Given the description of an element on the screen output the (x, y) to click on. 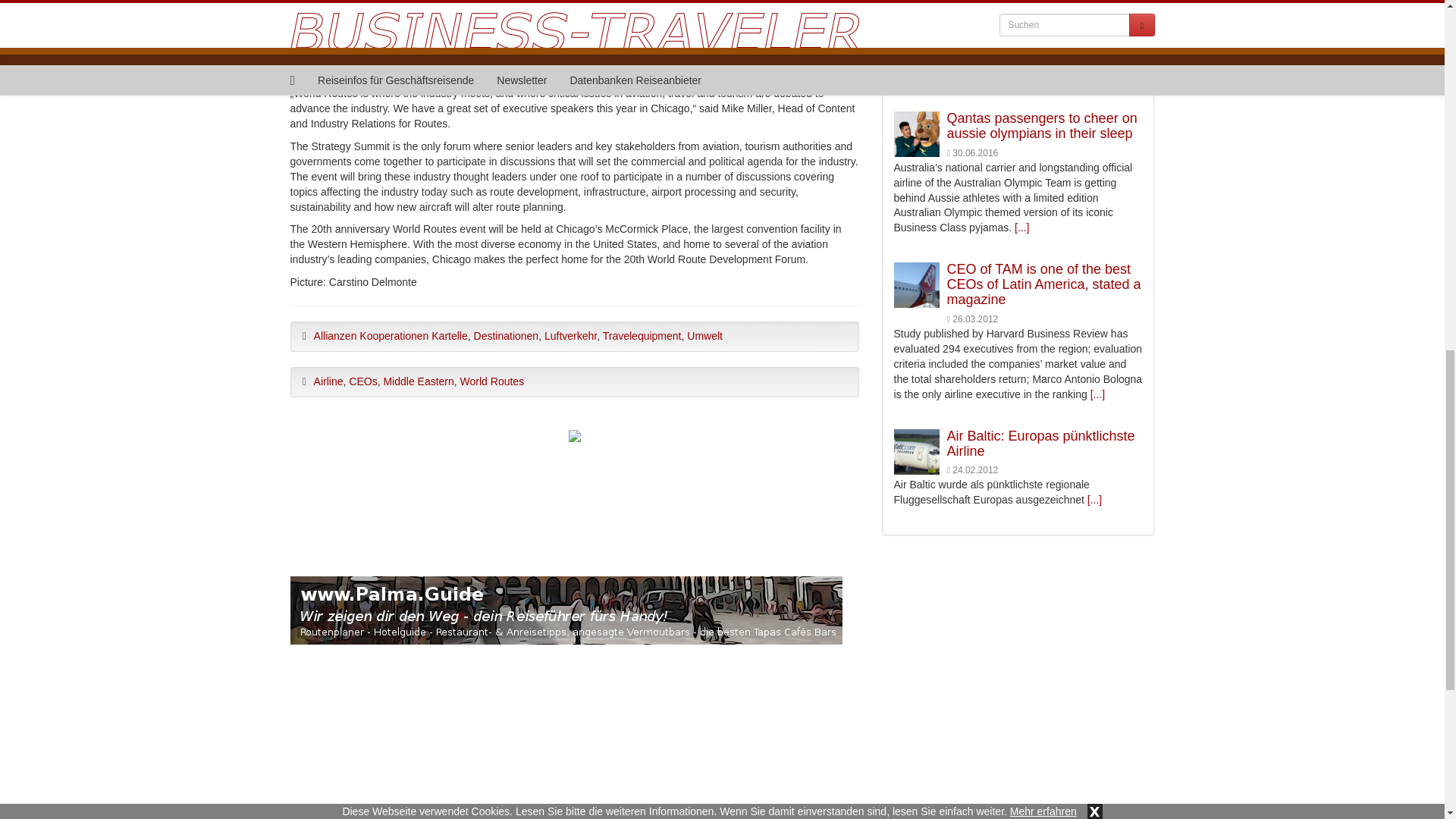
Airline (328, 381)
Allianzen Kooperationen Kartelle (390, 336)
Travelequipment (641, 336)
Middle Eastern (417, 381)
Destinationen (506, 336)
World Routes (492, 381)
Umwelt (704, 336)
Luftverkehr (570, 336)
Advertisement (574, 491)
